Given the description of an element on the screen output the (x, y) to click on. 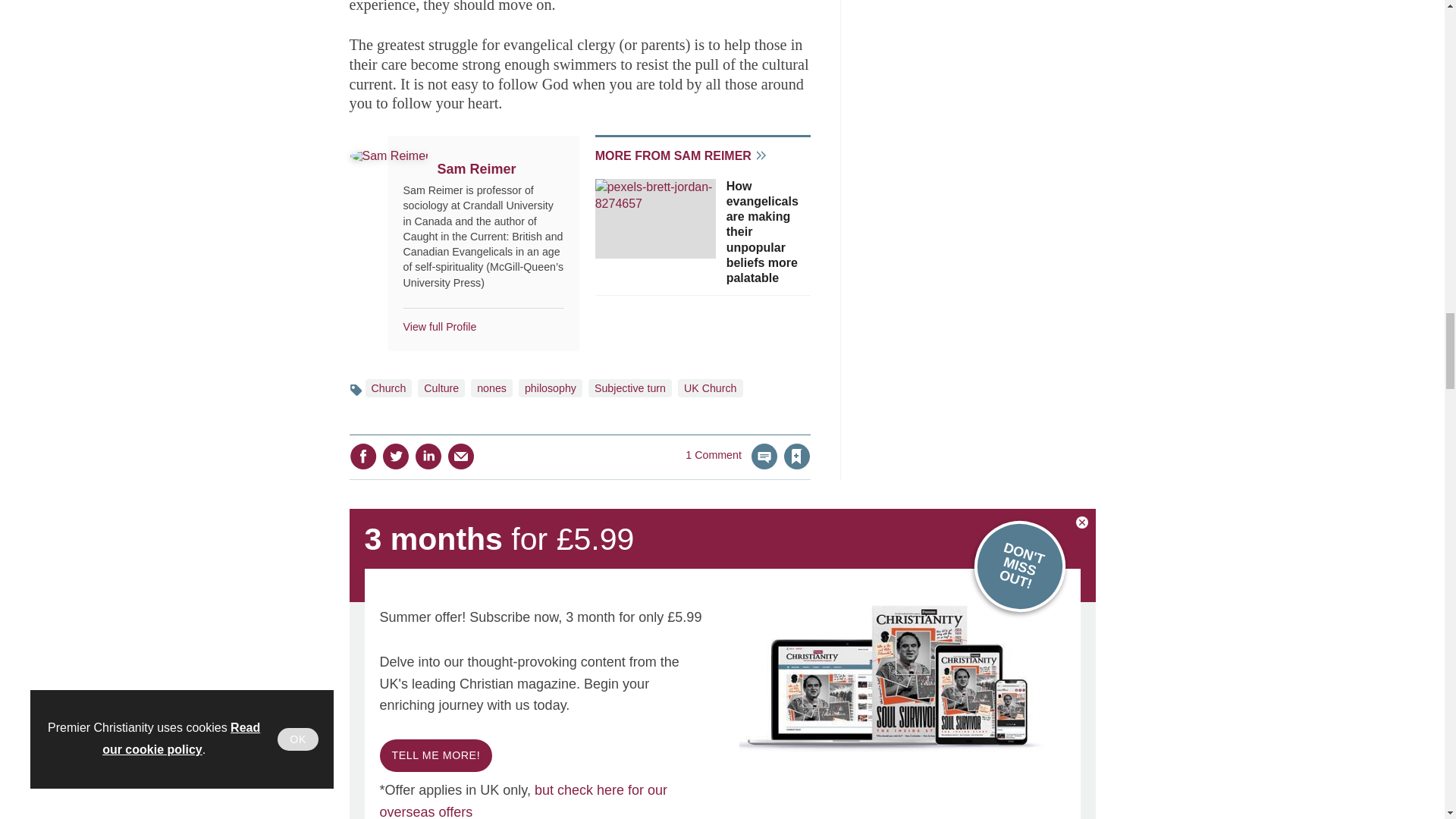
Share this on Linked in (427, 456)
Share this on Twitter (395, 456)
Share this on Facebook (362, 456)
1 Comment (731, 465)
Email this article (460, 456)
